Given the description of an element on the screen output the (x, y) to click on. 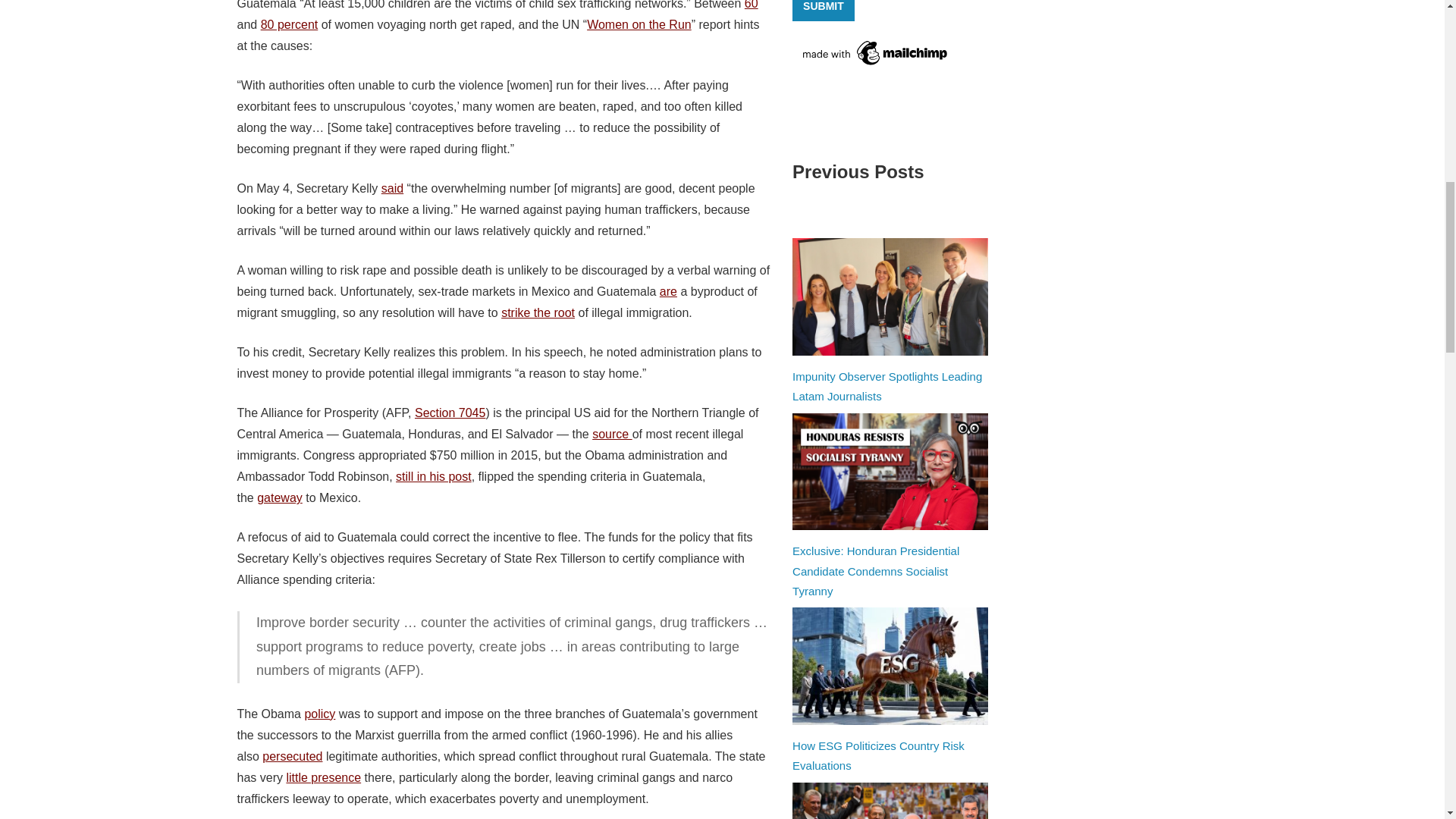
Women on the Run (638, 24)
60 (751, 4)
are (668, 291)
80 percent (289, 24)
Submit (823, 10)
Mailchimp - email marketing made easy and fun (875, 64)
said (392, 187)
